Given the description of an element on the screen output the (x, y) to click on. 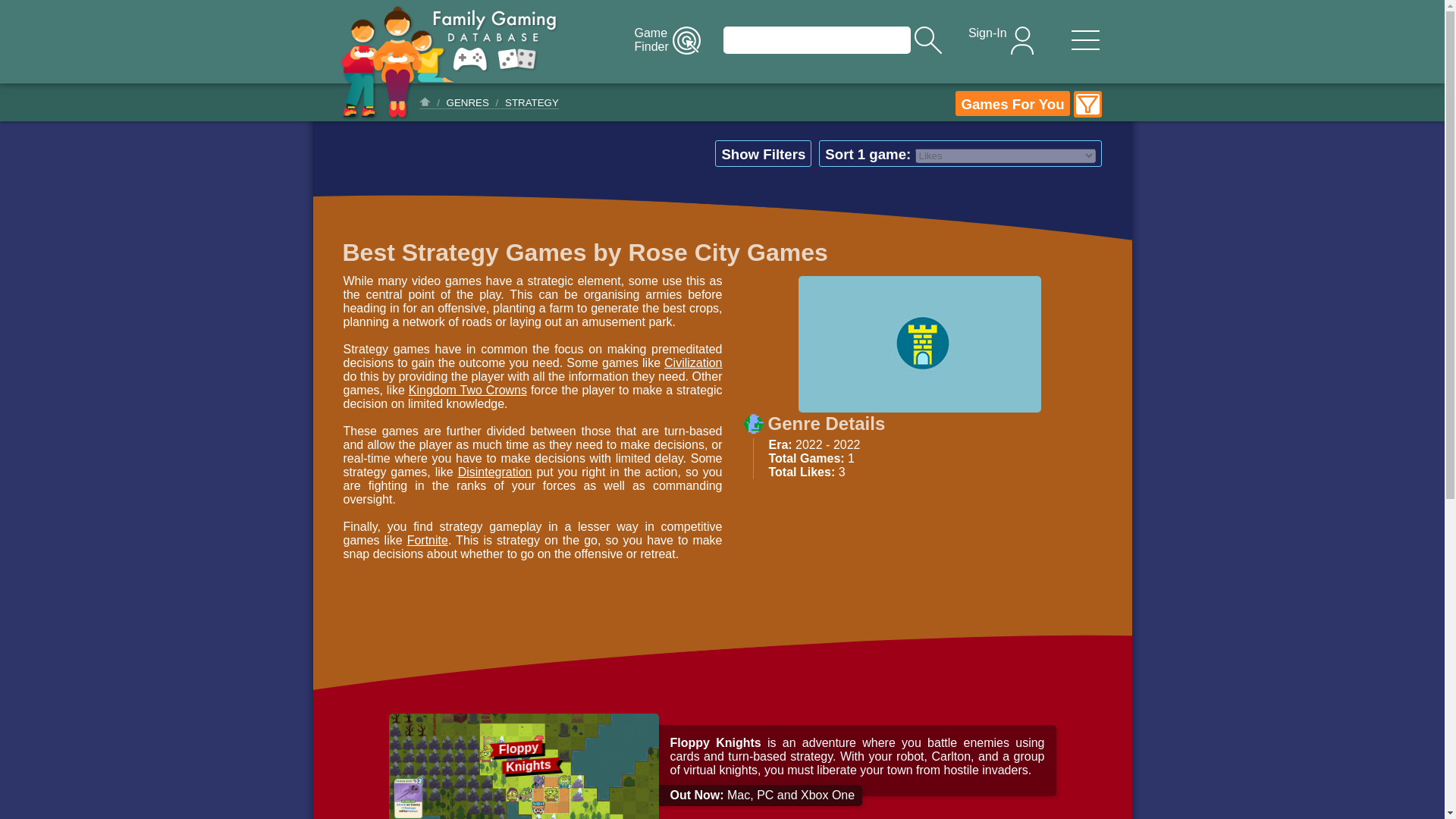
Search (817, 40)
Sign-In (665, 40)
GENRES (998, 40)
Games For You (467, 102)
